Given the description of an element on the screen output the (x, y) to click on. 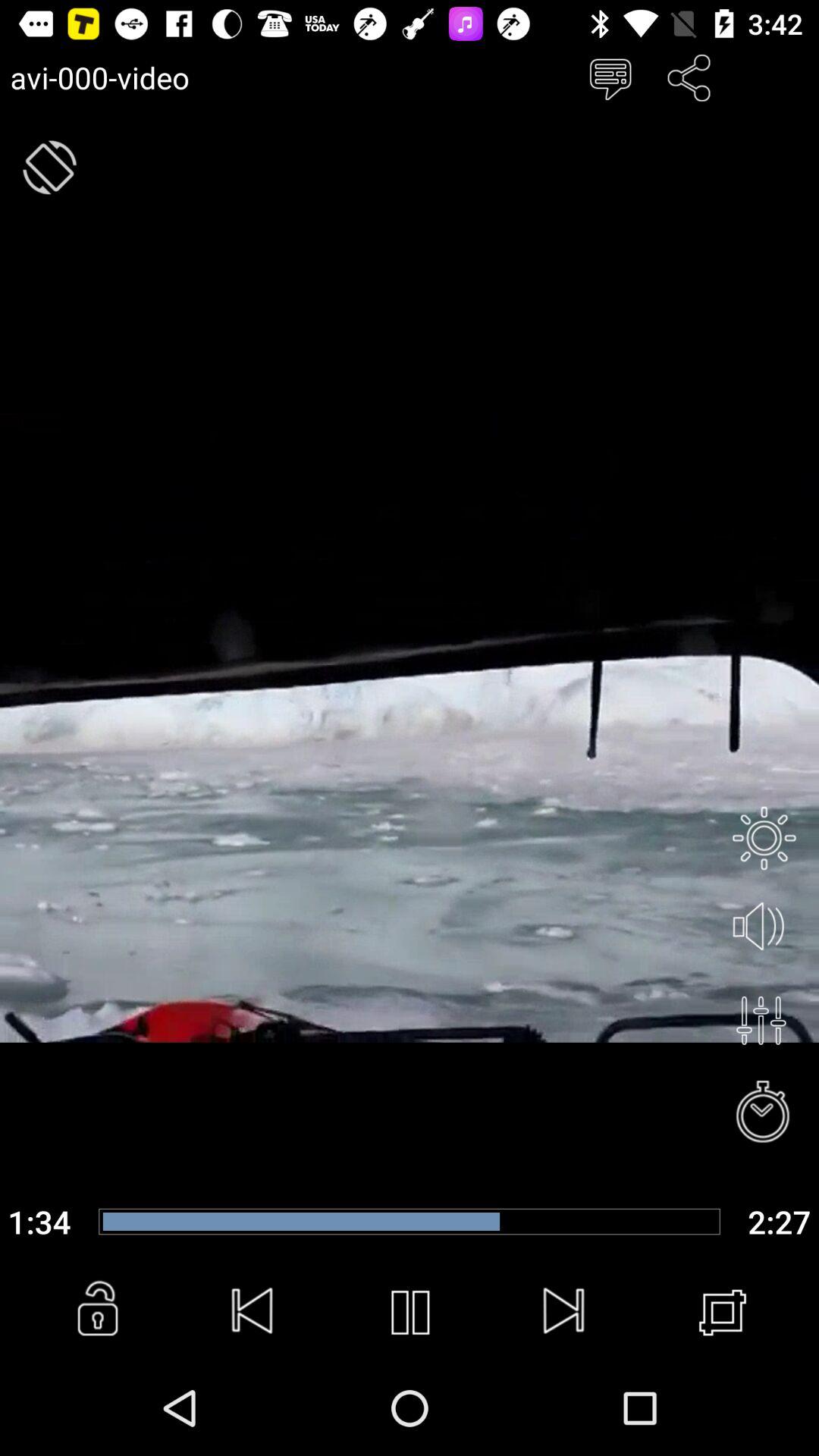
clock option (764, 1113)
